Given the description of an element on the screen output the (x, y) to click on. 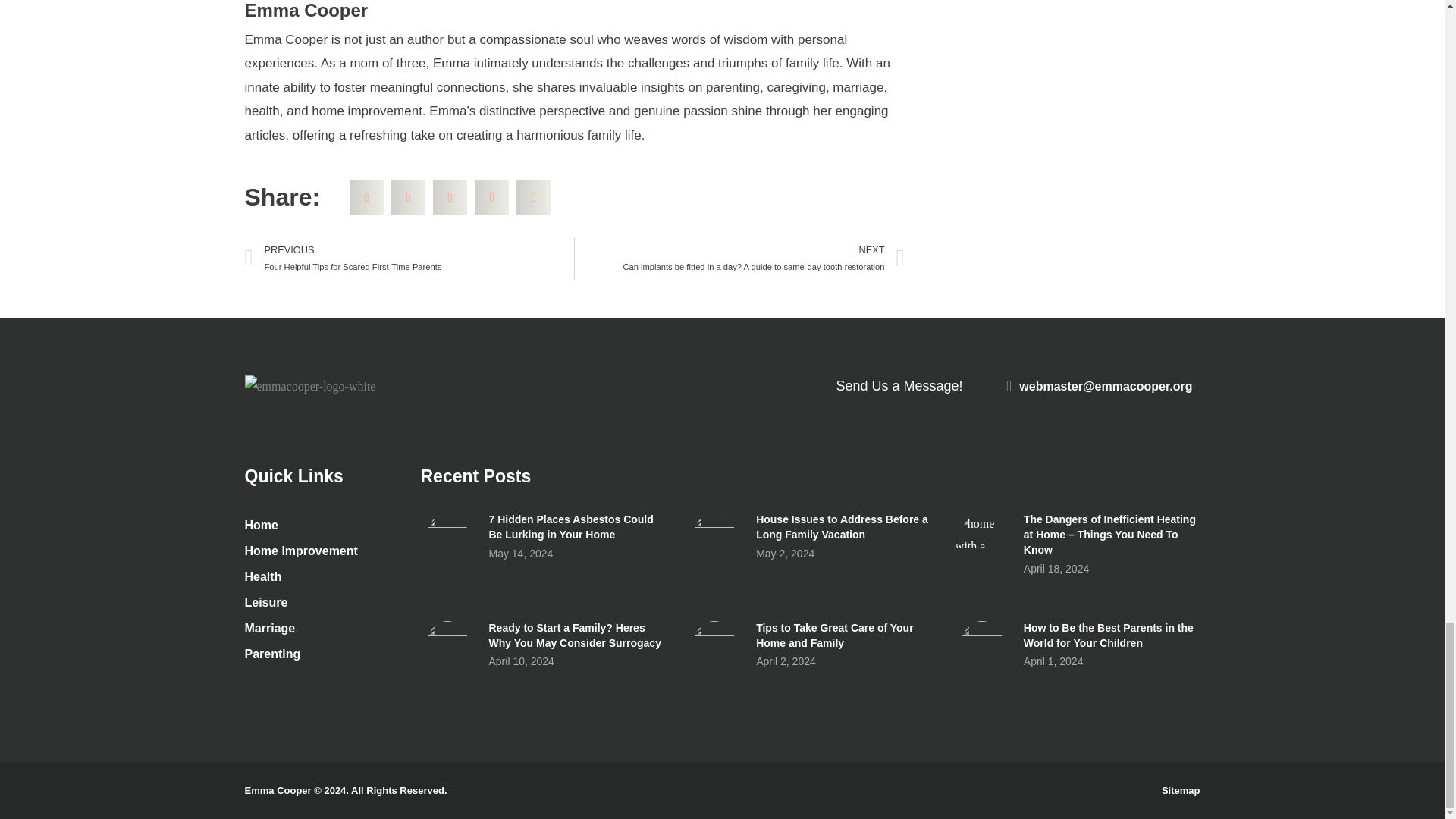
emmacooper-logo-white (309, 386)
